Given the description of an element on the screen output the (x, y) to click on. 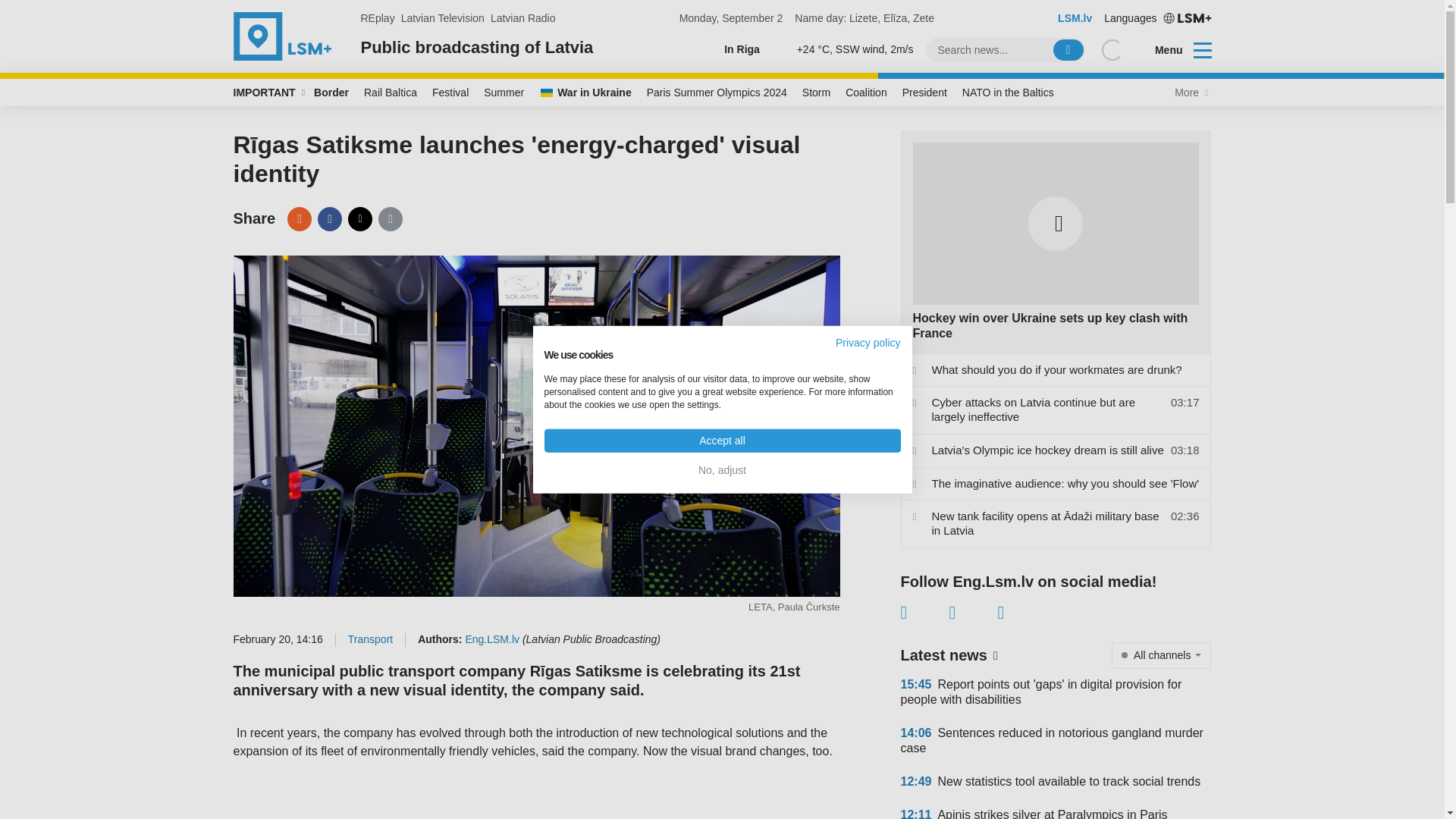
REplay (377, 18)
Latvian Radio (523, 18)
Coalition (865, 92)
Facebook (329, 218)
Storm (816, 92)
Latvian Television (442, 18)
War in Ukraine (585, 92)
Topics (1202, 49)
Paris Summer Olympics 2024 (716, 92)
NATO in the Baltics (1008, 92)
